Given the description of an element on the screen output the (x, y) to click on. 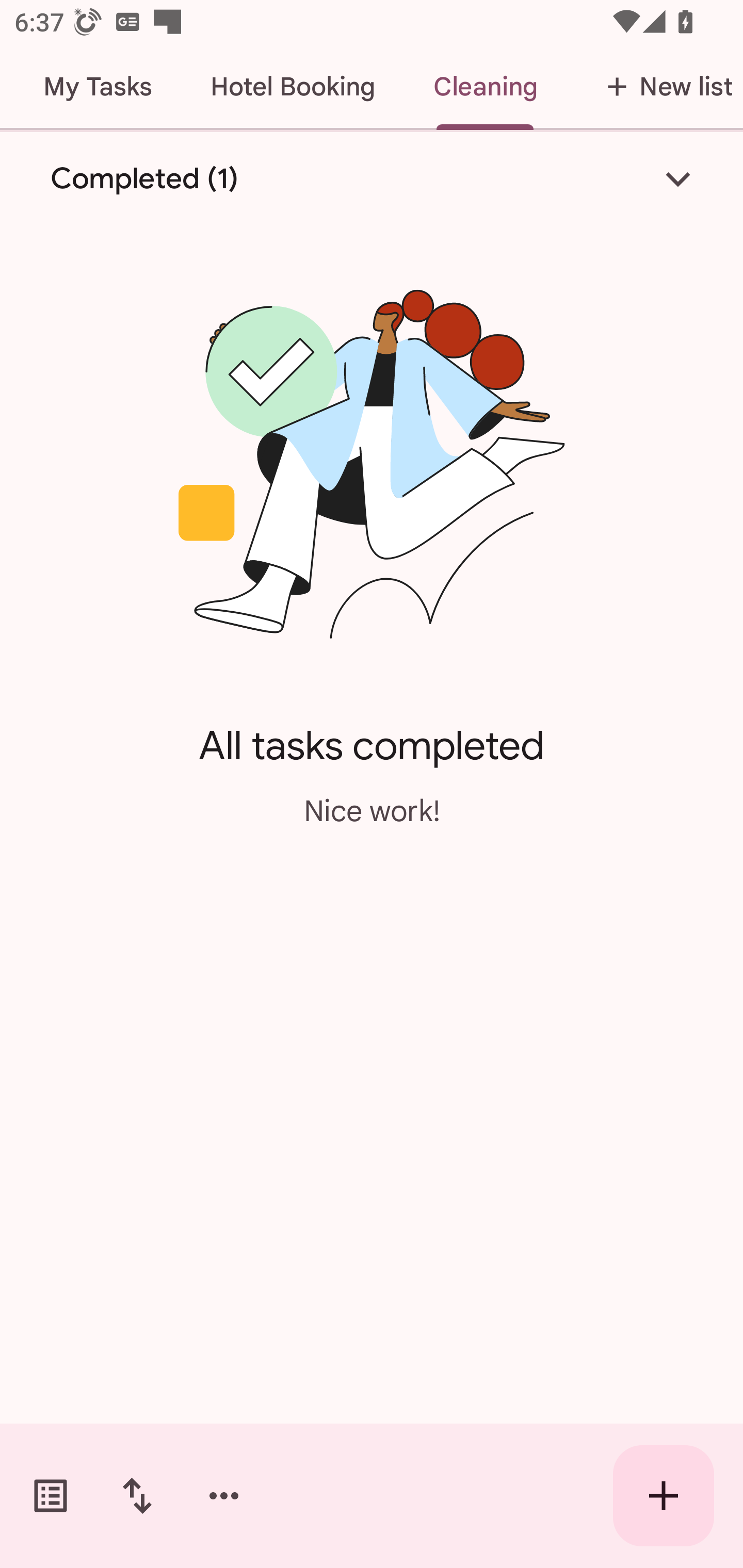
My Tasks (97, 86)
Hotel Booking (292, 86)
New list (654, 86)
Completed (1) (371, 178)
Switch task lists (50, 1495)
Create new task (663, 1495)
Change sort order (136, 1495)
More options (223, 1495)
